Given the description of an element on the screen output the (x, y) to click on. 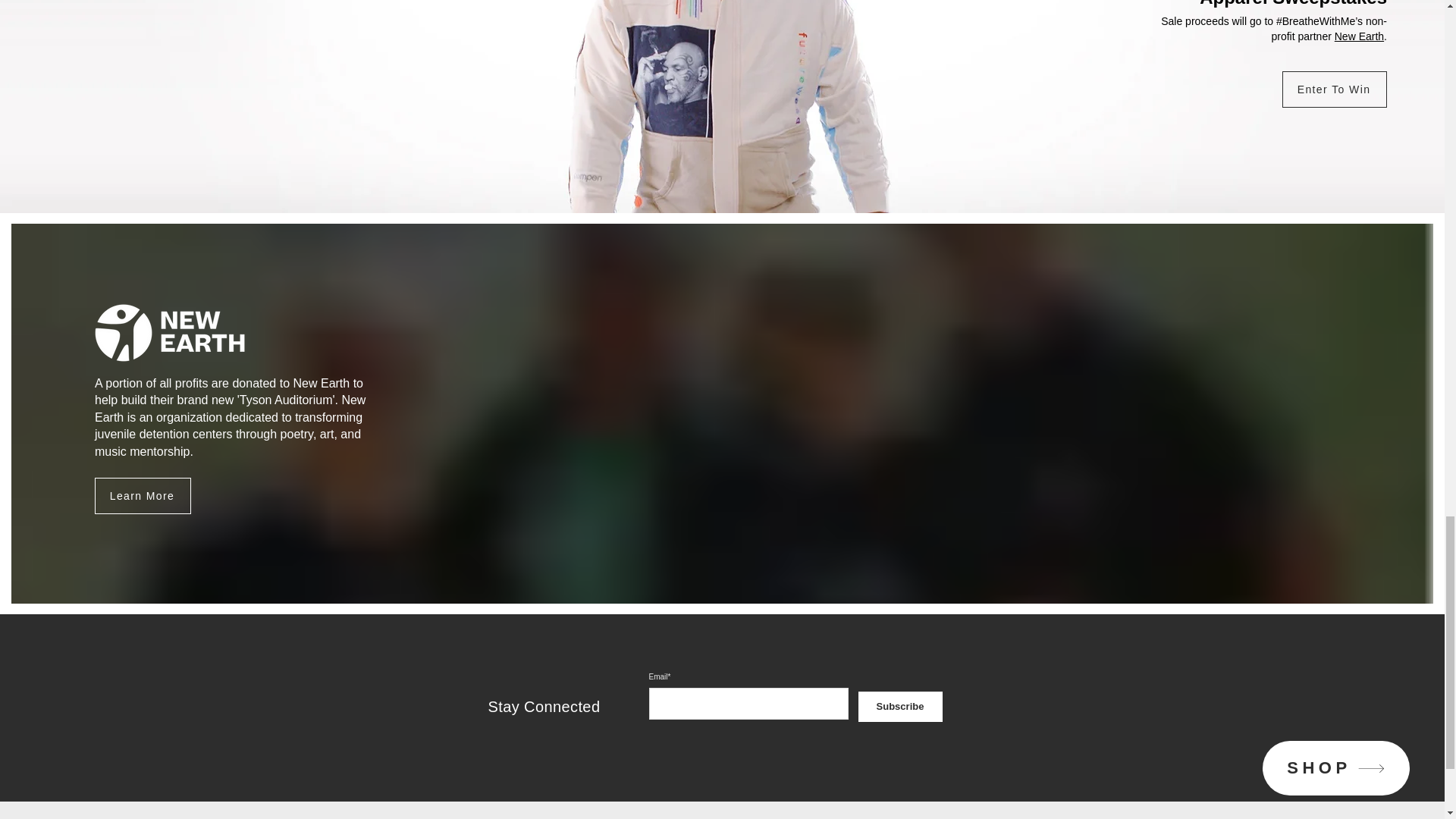
Learn More (142, 495)
Find Us (729, 817)
Enter To Win (1334, 89)
Subscribe (900, 706)
New Earth (1359, 36)
Home (644, 817)
